Given the description of an element on the screen output the (x, y) to click on. 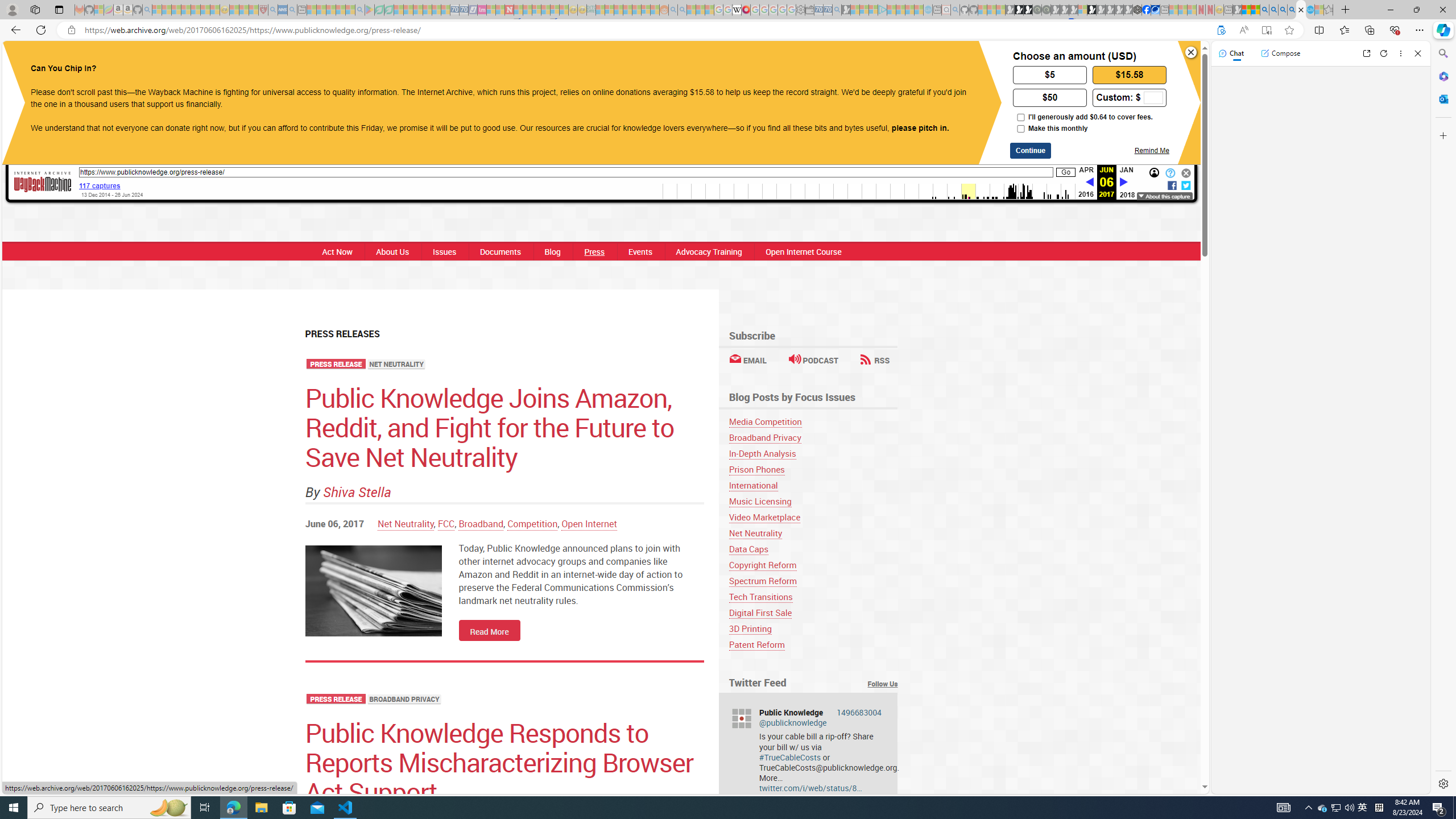
Net Neutrality (755, 532)
Press - Public Knowledge (1300, 9)
Public Knowledge (368, 60)
Blog (552, 251)
Wayback Machine (42, 182)
Read More (488, 630)
